Given the description of an element on the screen output the (x, y) to click on. 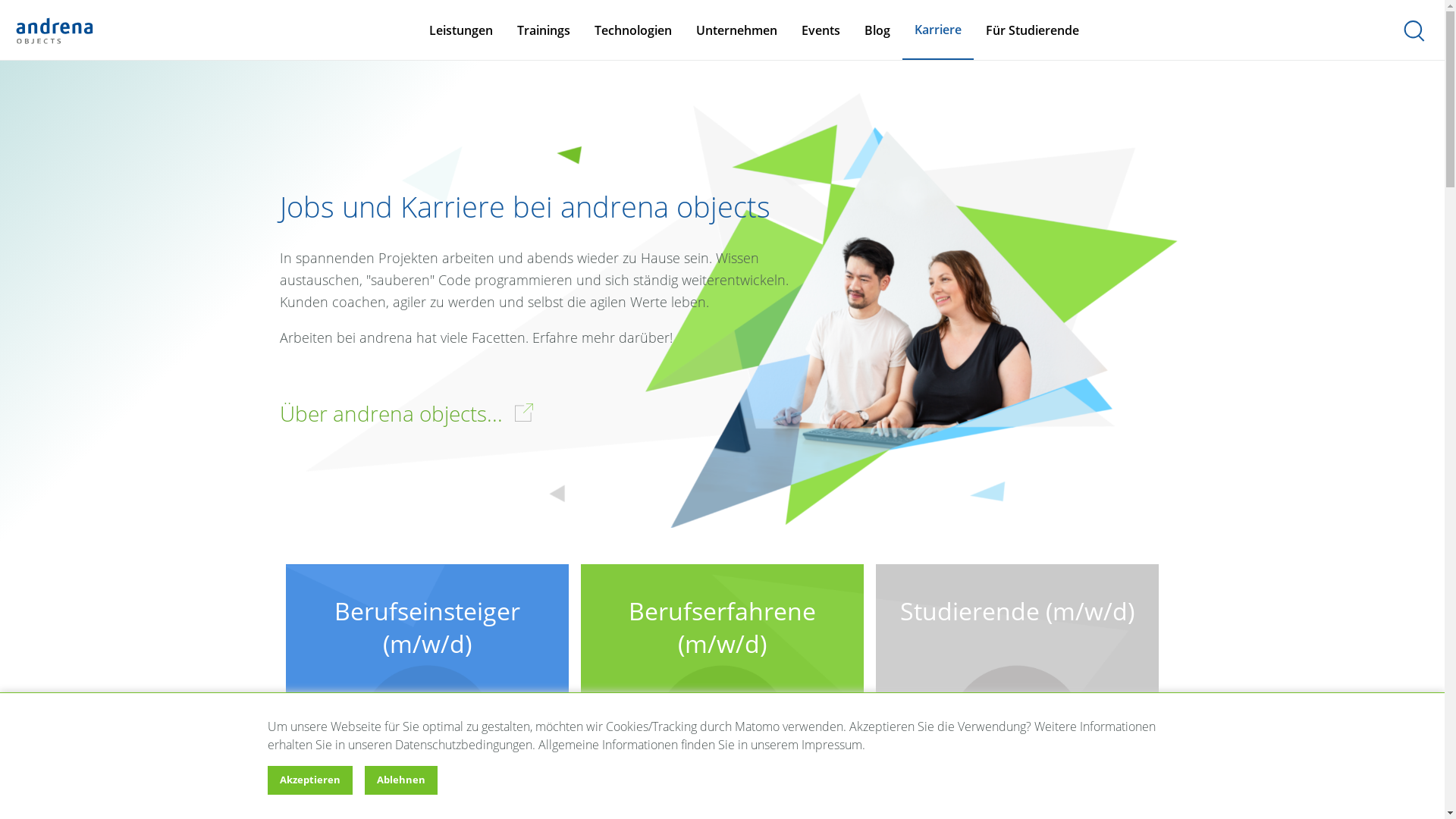
Studierende (m/w/d) Element type: text (1016, 595)
Technologien Element type: text (633, 29)
Unternehmen Element type: text (736, 29)
Events Element type: text (820, 29)
Karriere Element type: text (937, 29)
Blog Element type: text (877, 29)
Trainings Element type: text (543, 29)
Berufserfahrene (m/w/d) Element type: text (721, 611)
Leistungen Element type: text (461, 29)
Berufseinsteiger (m/w/d) Element type: text (426, 611)
